Given the description of an element on the screen output the (x, y) to click on. 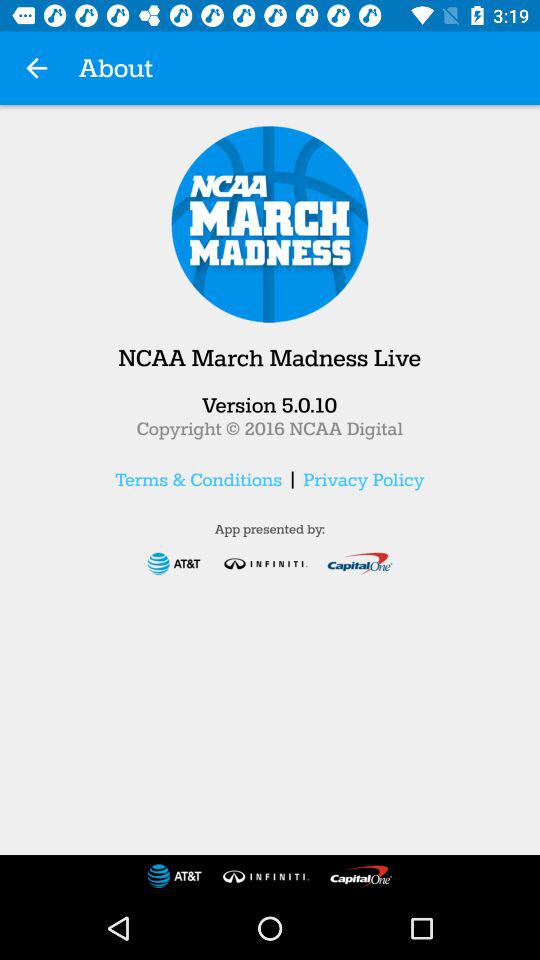
turn off the privacy policy (363, 479)
